Given the description of an element on the screen output the (x, y) to click on. 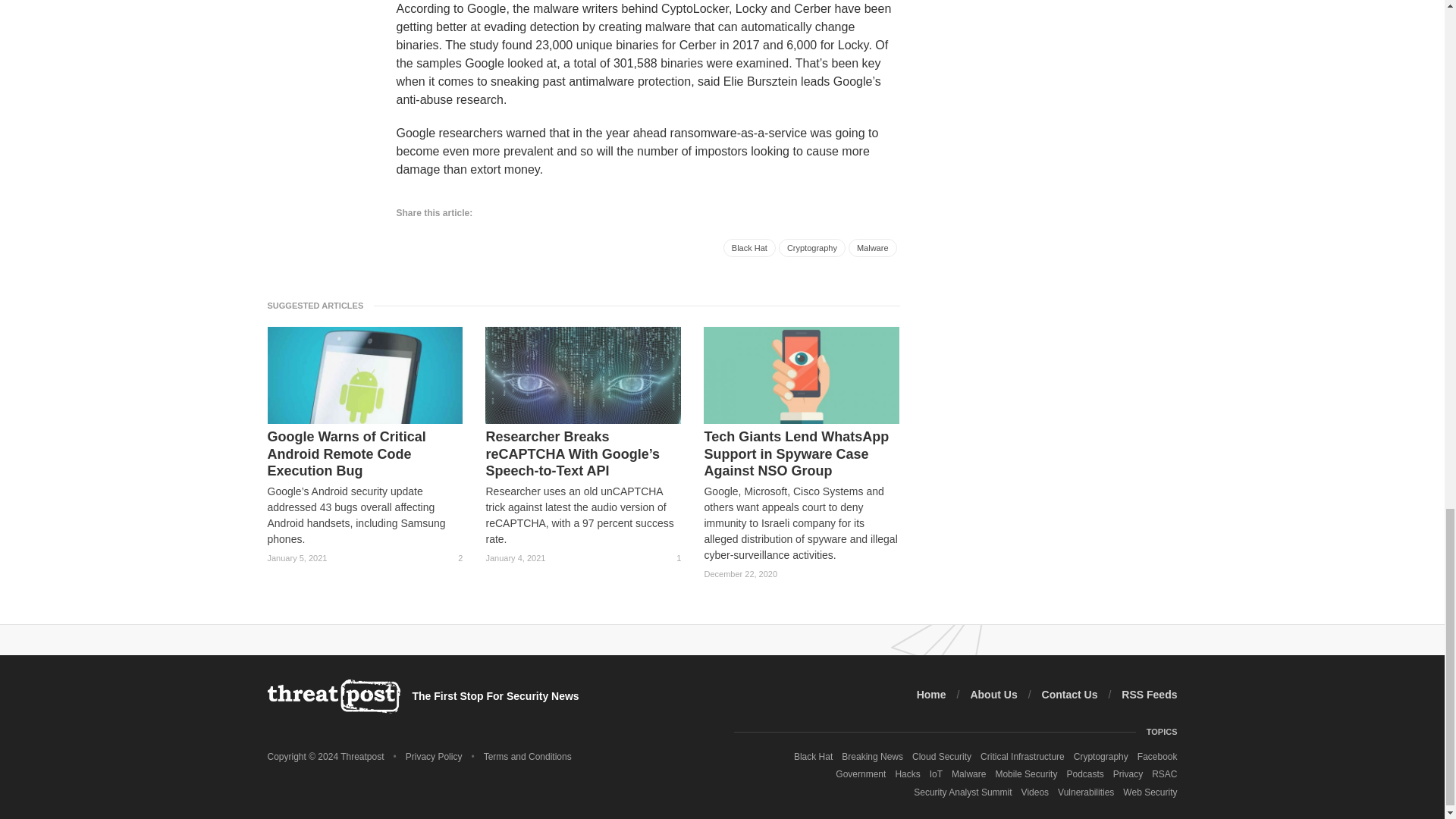
Cryptography (811, 248)
SUGGESTED ARTICLES (319, 305)
Google Warns of Critical Android Remote Code Execution Bug (364, 453)
Malware (872, 248)
Black Hat (749, 248)
1 (671, 558)
2 (453, 558)
